Given the description of an element on the screen output the (x, y) to click on. 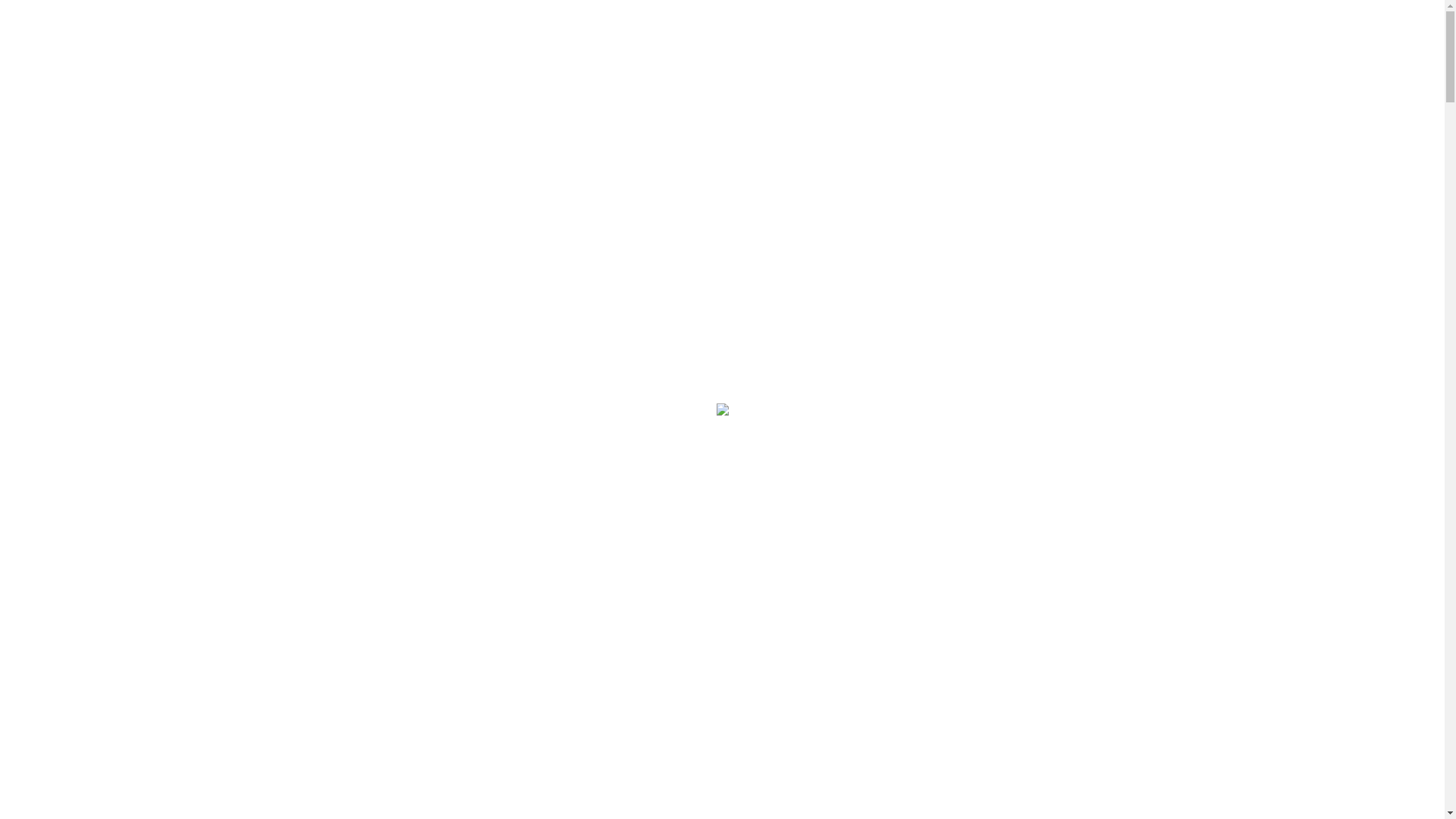
Reinforced Stitched Non-woven Geotextiles Element type: text (194, 373)
Skip to content Element type: text (5, 12)
Horticultural Fabrics Element type: text (143, 422)
Geosynthetics Australia Element type: hover (79, 137)
Nonwoven Industrial Fabrics Element type: text (161, 397)
Construction: basements and tunnels Element type: text (153, 569)
Nonwoven Continuous Filament Geotextiles Element type: text (197, 324)
Nonwoven Staple Fibre Needle Punched Geotextiles Element type: text (214, 348)
Contact Us Element type: text (67, 74)
Filter Sheet Drain Element type: text (106, 692)
GCL Element type: text (45, 544)
Woven Geotextiles Element type: text (109, 447)
Landfill liners and caps Element type: text (120, 618)
Slit Film Woven Geotextiles Element type: text (158, 495)
  Element type: text (13, 236)
Special applications Element type: text (114, 643)
Nonwoven Geotextiles Element type: text (119, 299)
Geotextiles & Fabrics Element type: text (84, 274)
Resources Element type: text (65, 25)
Geocomposite Drains & Geonets Element type: text (110, 667)
Search Element type: text (186, 99)
Composite Geotextiles Element type: text (119, 520)
About Us Element type: text (62, 49)
Prefabricated Wick Drains Element type: text (127, 790)
Biplanar and Triplanar Drainage Geonets Element type: text (162, 741)
Drainage Cells and Void Tanks Element type: text (137, 766)
Strip Filter Drains Element type: text (107, 716)
High Strength Woven Geotextiles Element type: text (171, 471)
Dams, ponds and bunds Element type: text (122, 594)
